Given the description of an element on the screen output the (x, y) to click on. 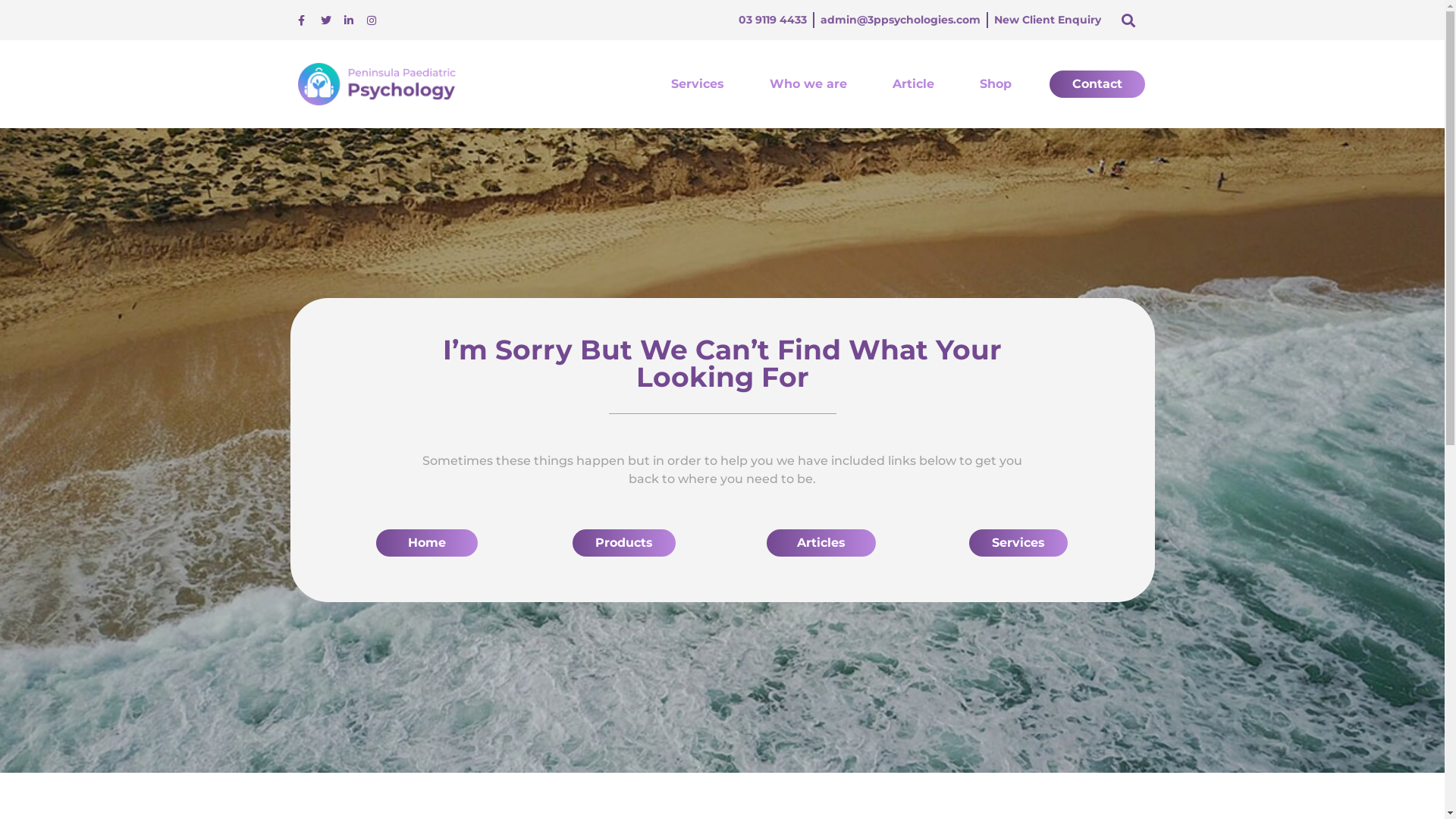
admin@3ppsychologies.com Element type: text (900, 20)
New Client Enquiry Element type: text (1047, 20)
03 9119 4433 Element type: text (772, 20)
Services Element type: text (1018, 542)
Article Element type: text (913, 83)
Products Element type: text (622, 542)
Who we are Element type: text (807, 83)
Services Element type: text (697, 83)
Articles Element type: text (820, 542)
Contact Element type: text (1097, 83)
Shop Element type: text (995, 83)
Home Element type: text (426, 542)
